Given the description of an element on the screen output the (x, y) to click on. 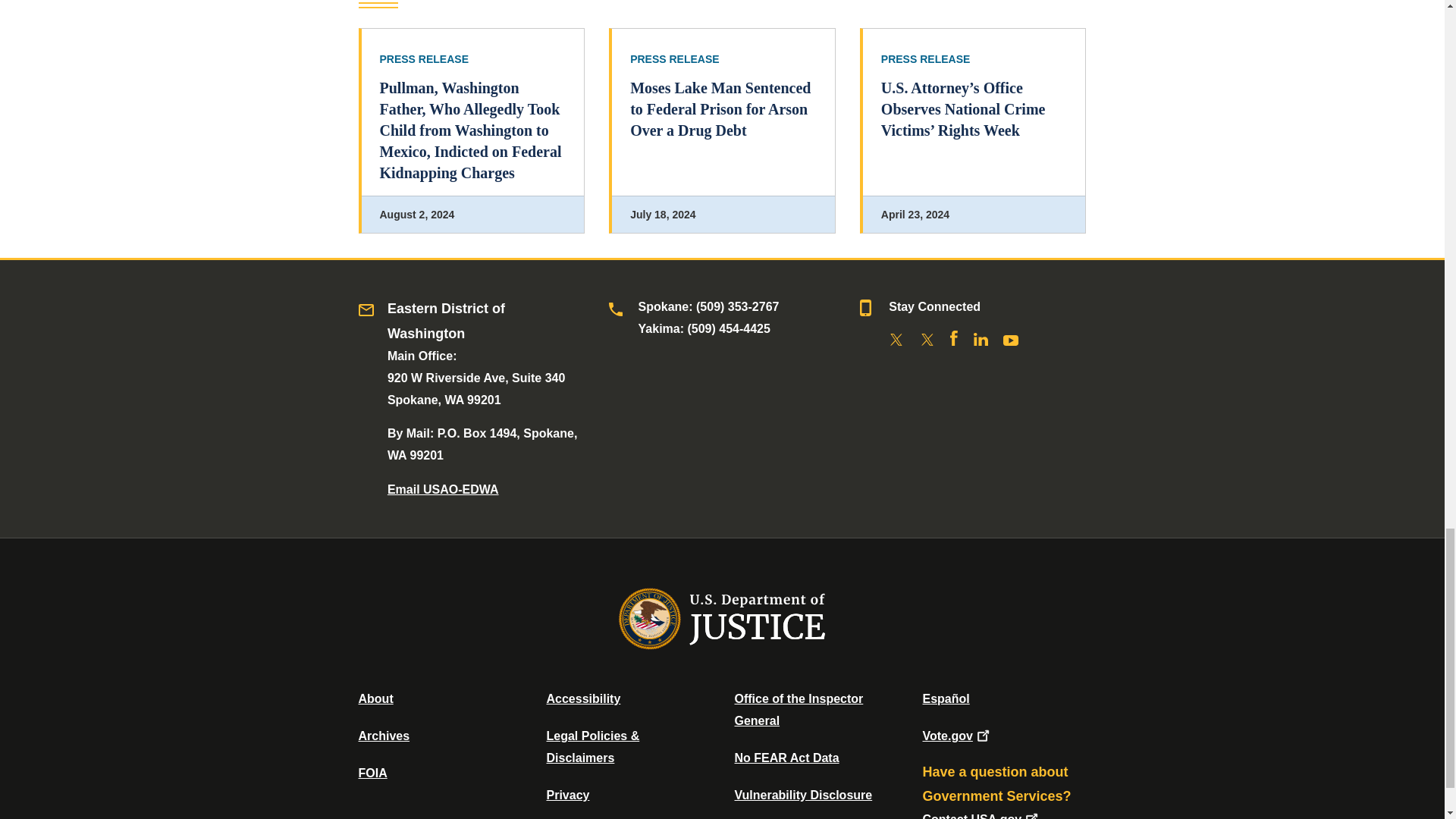
Legal Policies and Disclaimers (592, 746)
Data Posted Pursuant To The No Fear Act (785, 757)
Accessibility Statement (583, 698)
Department of Justice Archive (383, 735)
About DOJ (375, 698)
Office of Information Policy (372, 772)
